Given the description of an element on the screen output the (x, y) to click on. 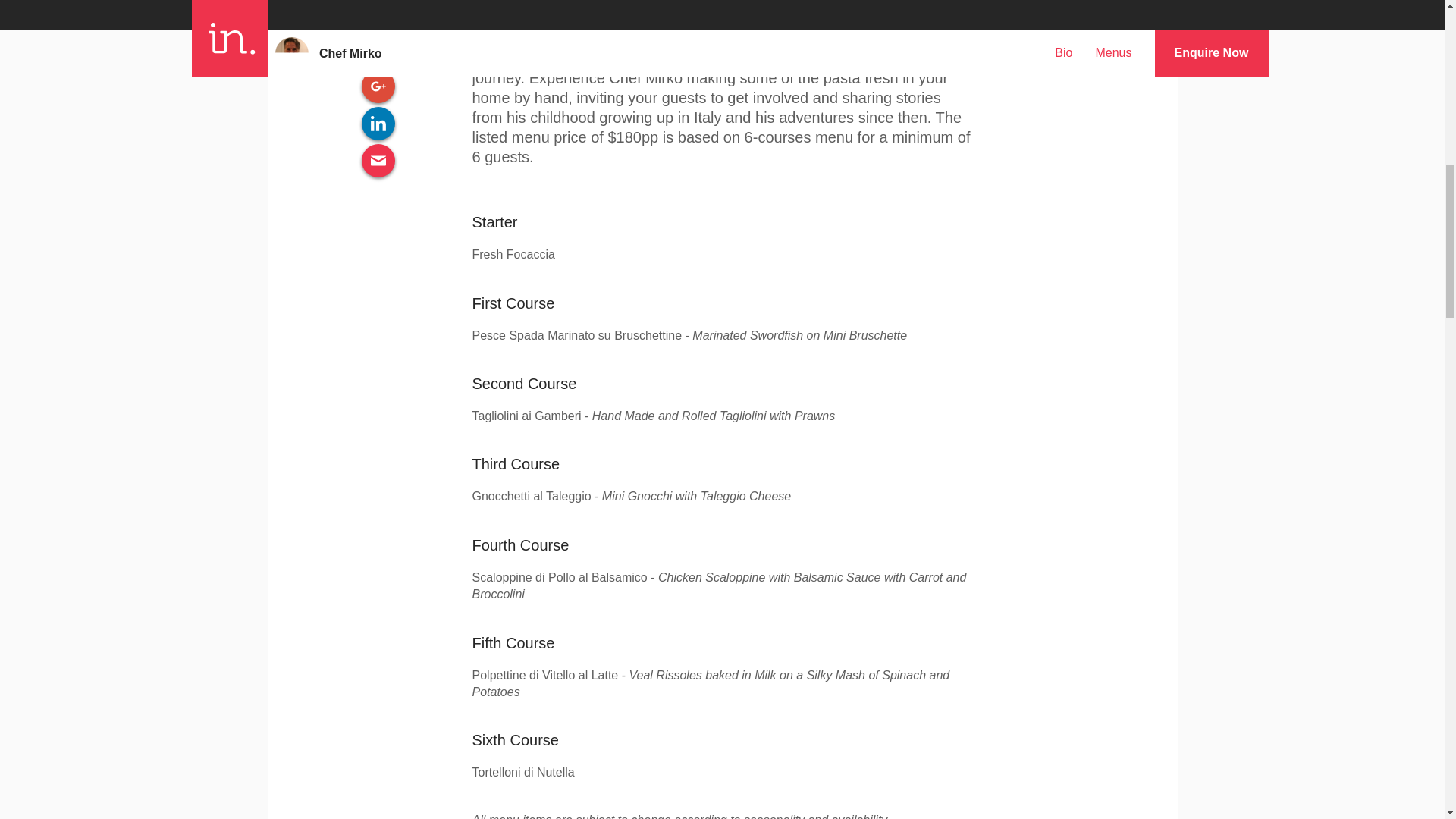
Twitter (377, 49)
Google Plus (377, 86)
Facebook (377, 14)
Linked In (377, 123)
Email (377, 160)
